Given the description of an element on the screen output the (x, y) to click on. 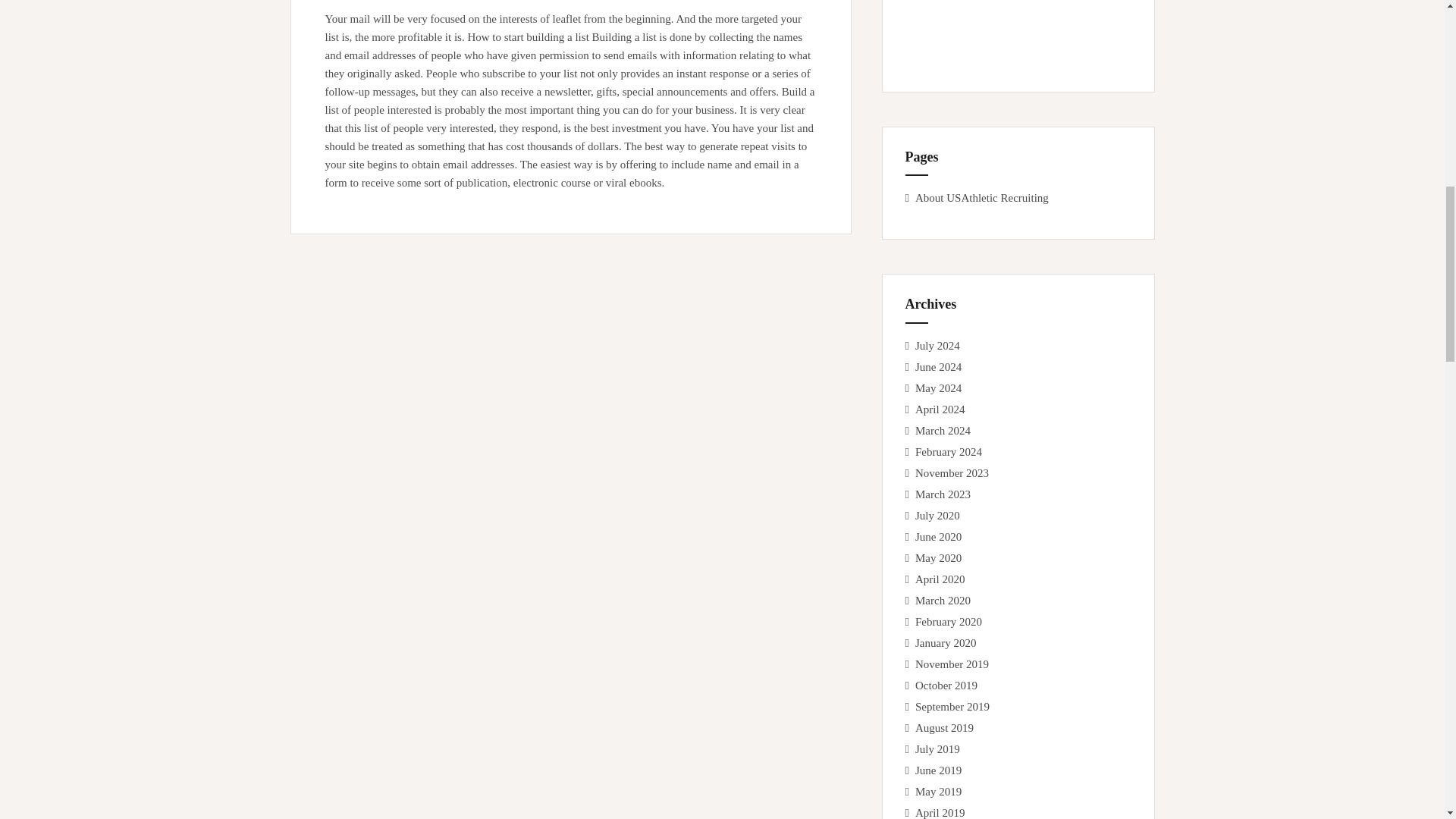
February 2024 (948, 451)
March 2020 (943, 600)
June 2024 (937, 367)
May 2019 (937, 791)
March 2023 (943, 494)
November 2023 (951, 472)
April 2024 (939, 409)
June 2019 (937, 770)
October 2019 (945, 685)
November 2019 (951, 664)
March 2024 (943, 430)
January 2020 (945, 643)
May 2020 (937, 558)
April 2019 (939, 812)
June 2020 (937, 536)
